Given the description of an element on the screen output the (x, y) to click on. 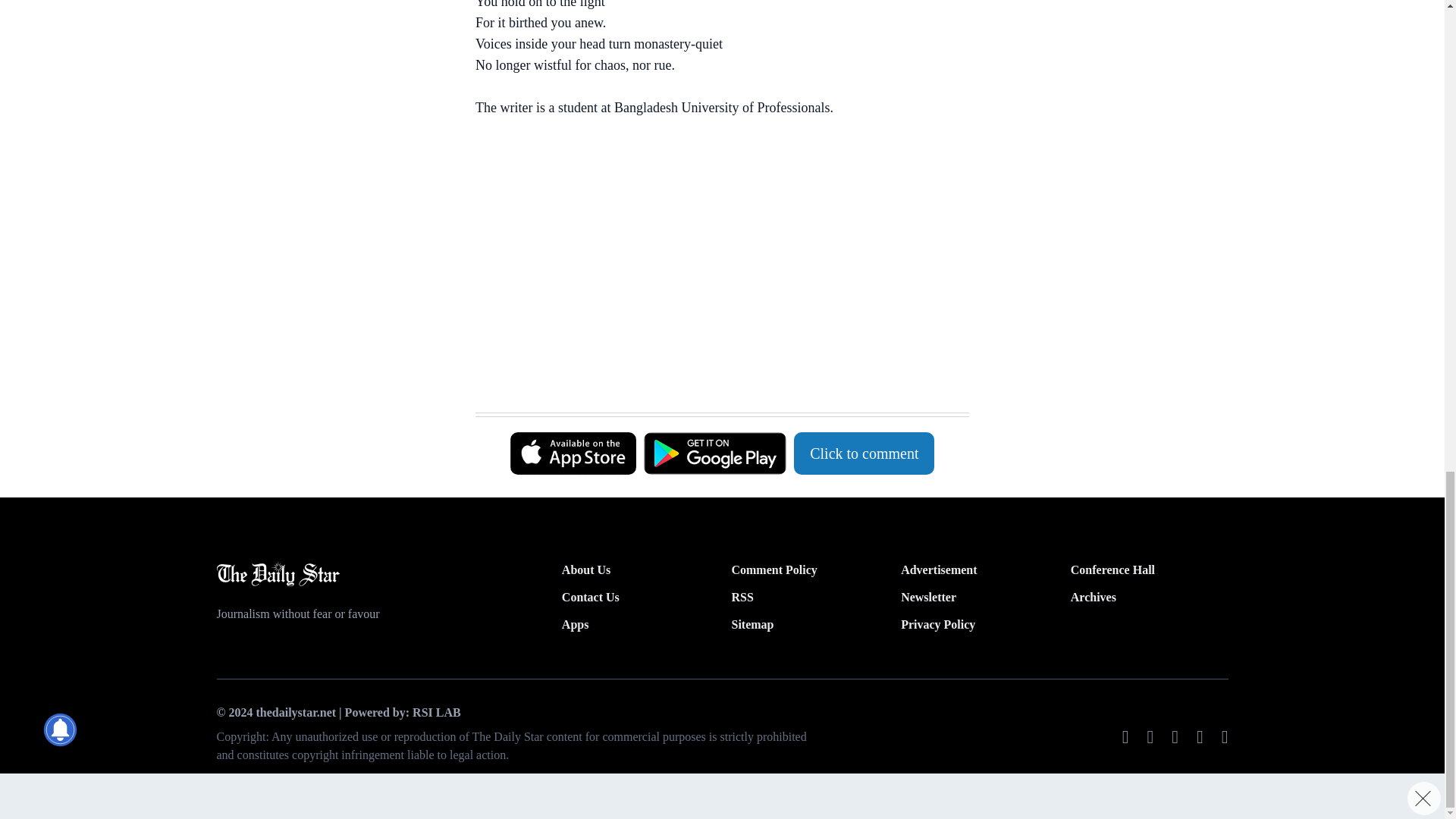
3rd party ad content (713, 234)
3rd party ad content (714, 374)
